Given the description of an element on the screen output the (x, y) to click on. 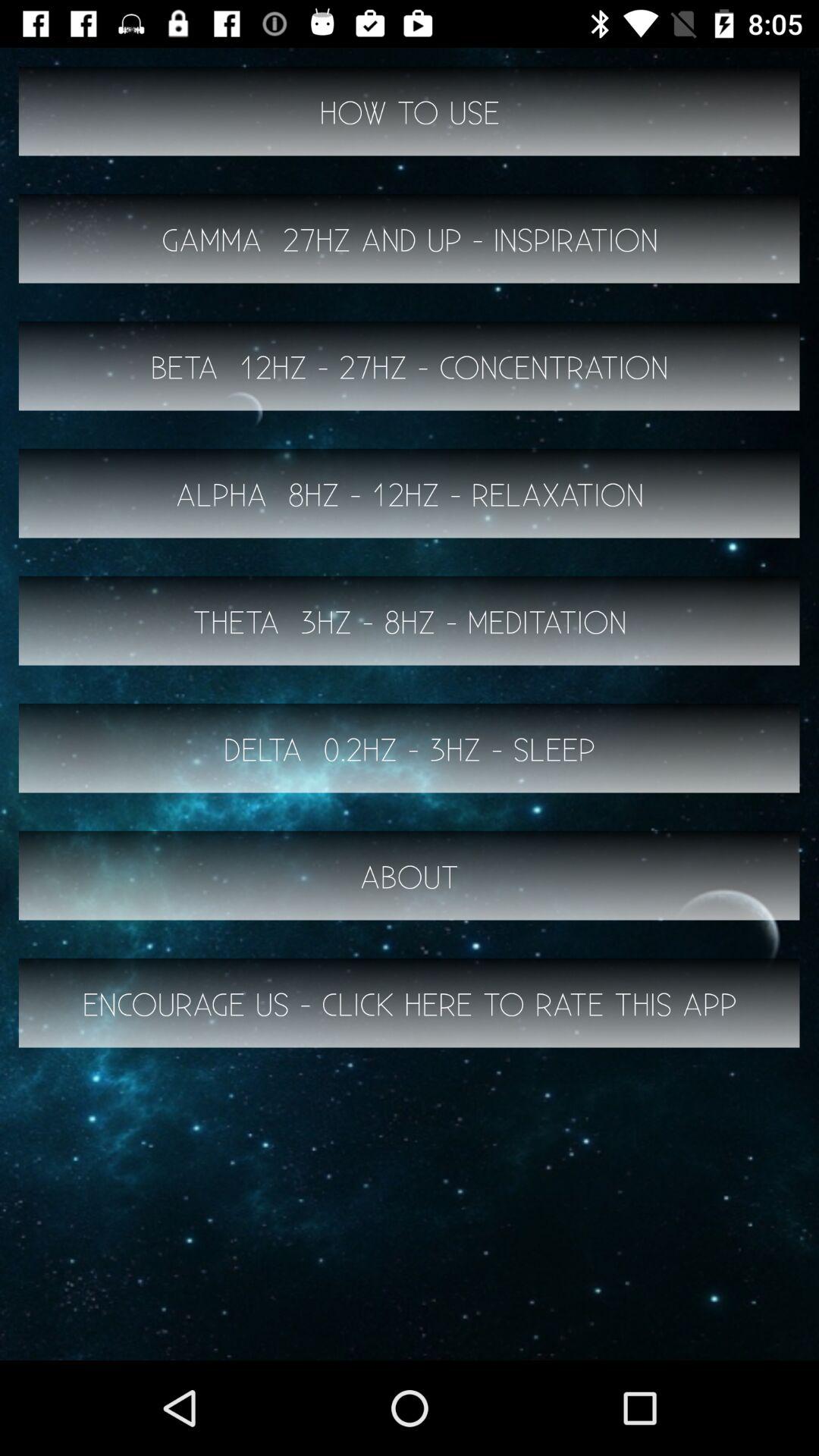
open the gamma 27hz and button (409, 238)
